Given the description of an element on the screen output the (x, y) to click on. 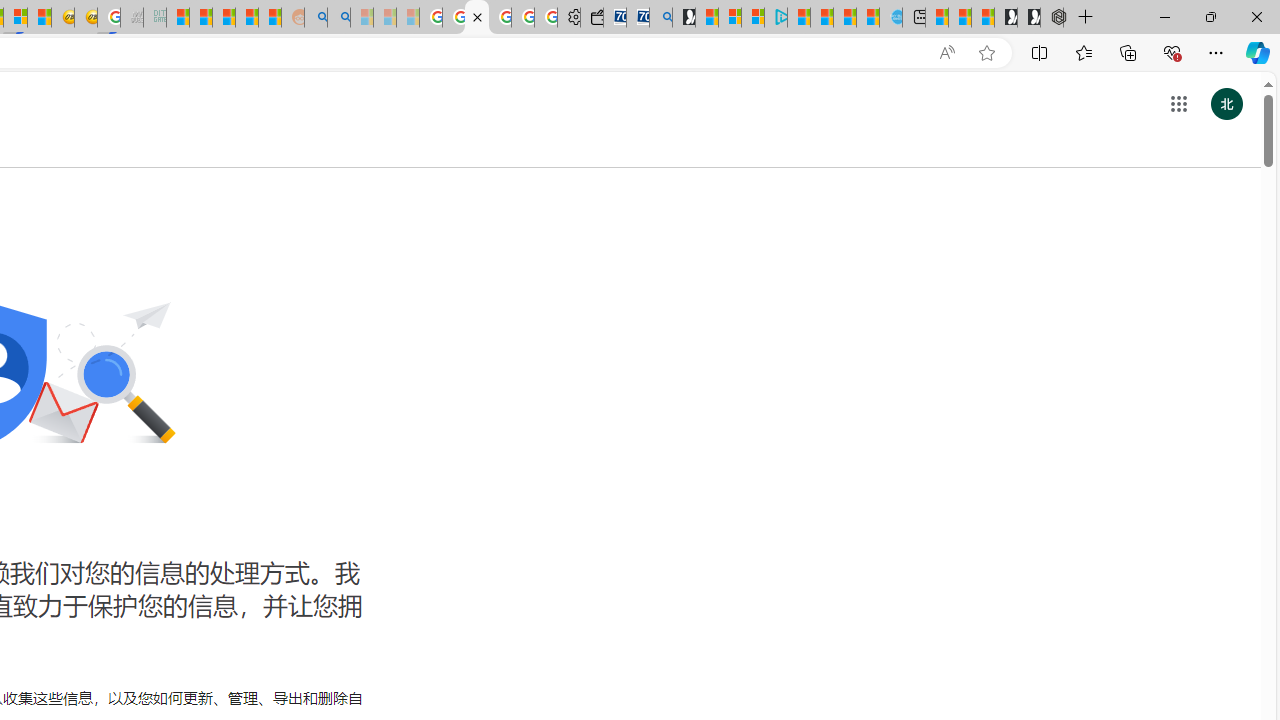
Student Loan Update: Forgiveness Program Ends This Month (246, 17)
